Given the description of an element on the screen output the (x, y) to click on. 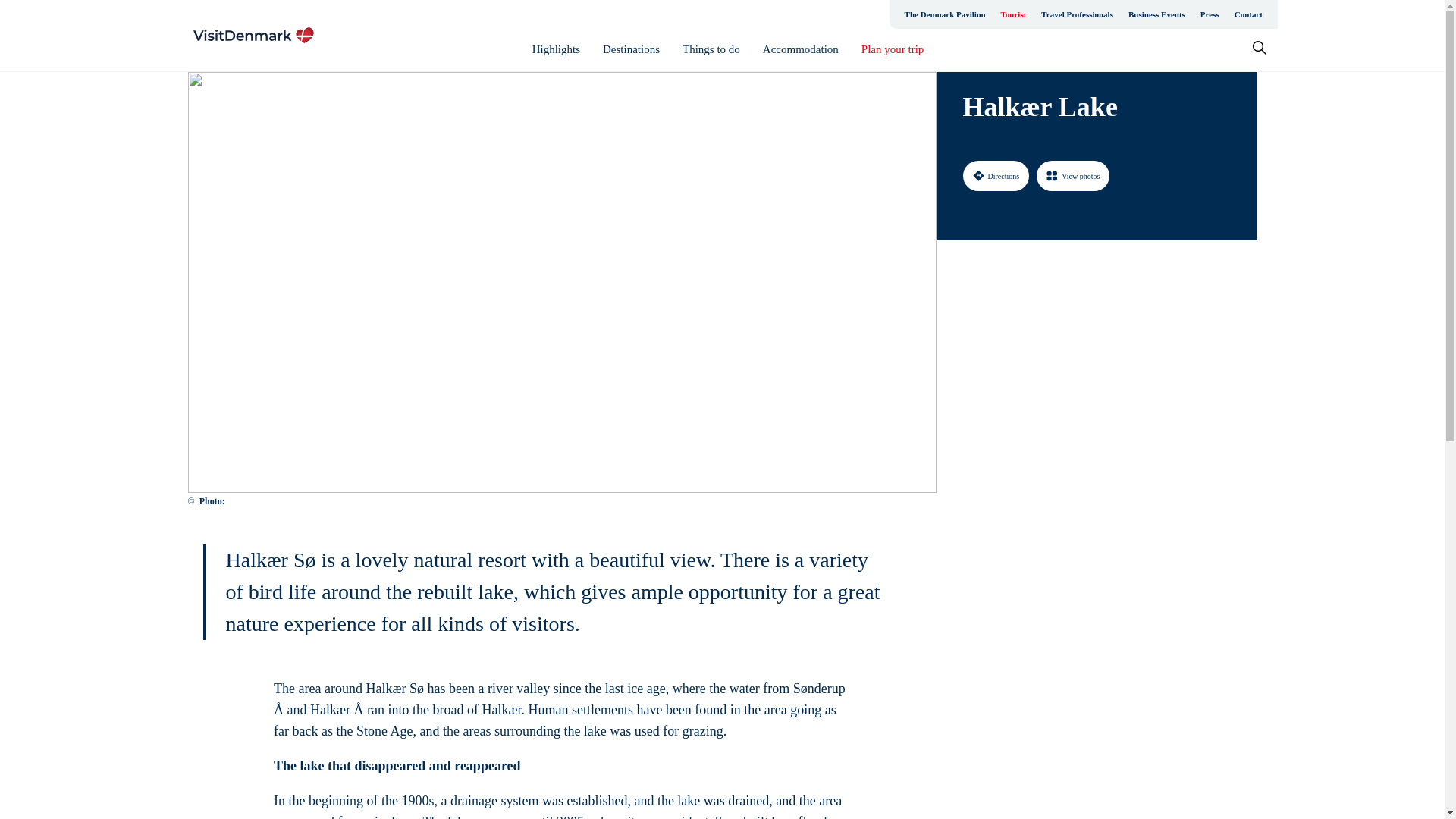
Contact (1248, 14)
Business Events (1156, 14)
Highlights (555, 49)
Things to do (710, 49)
Tourist (1012, 14)
Destinations (630, 49)
Directions (995, 175)
Travel Professionals (1077, 14)
Go to homepage (253, 35)
Press (1209, 14)
